Given the description of an element on the screen output the (x, y) to click on. 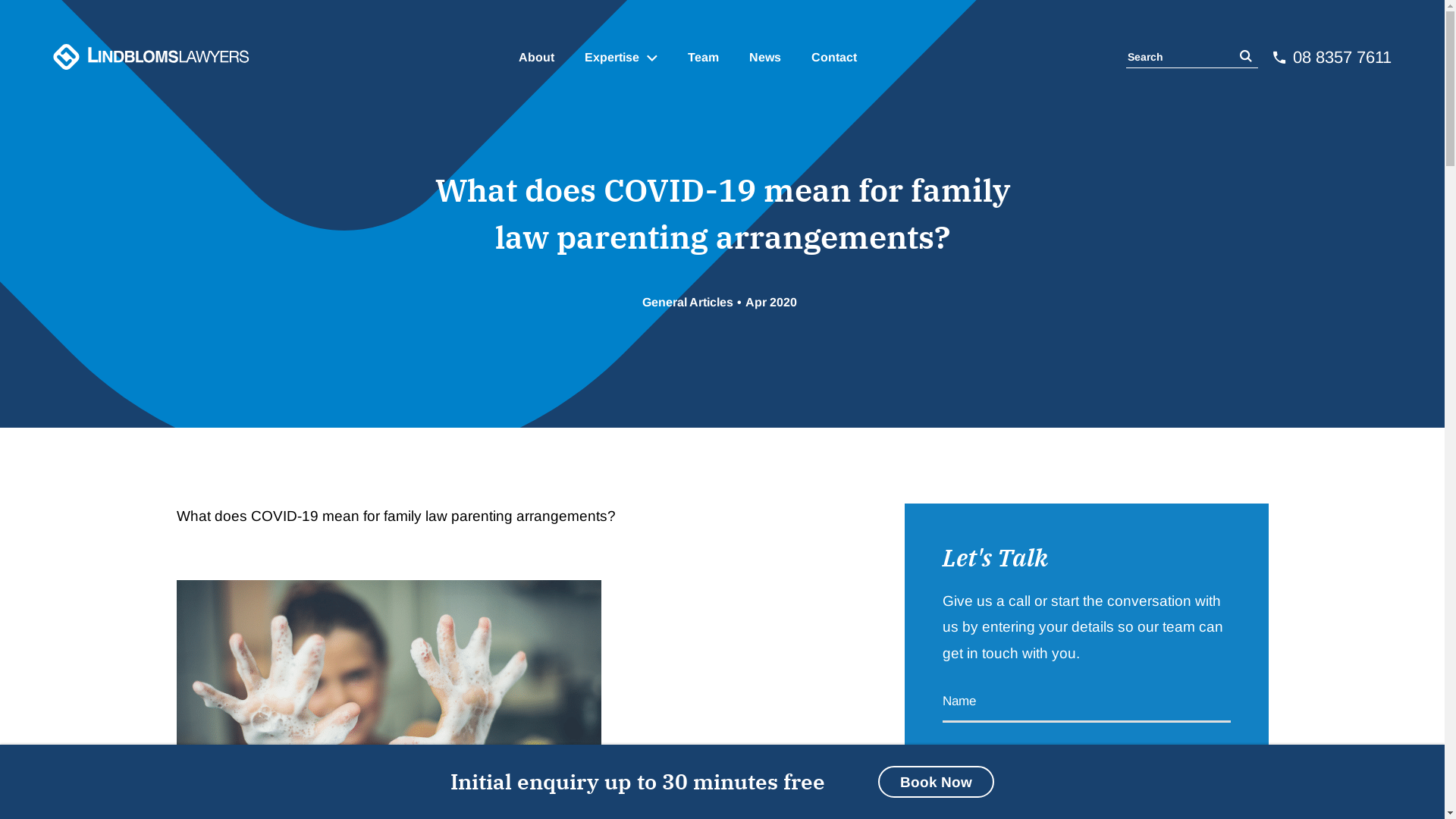
08 8357 7611 Element type: text (1332, 57)
Book Now Element type: text (935, 781)
Lindbloms Lawyers Logo Lindbloms Lawyers Logo Element type: text (151, 57)
Contact Element type: text (833, 57)
News Element type: text (765, 57)
Expertise Element type: text (620, 57)
Team Element type: text (702, 57)
About Element type: text (536, 57)
